Given the description of an element on the screen output the (x, y) to click on. 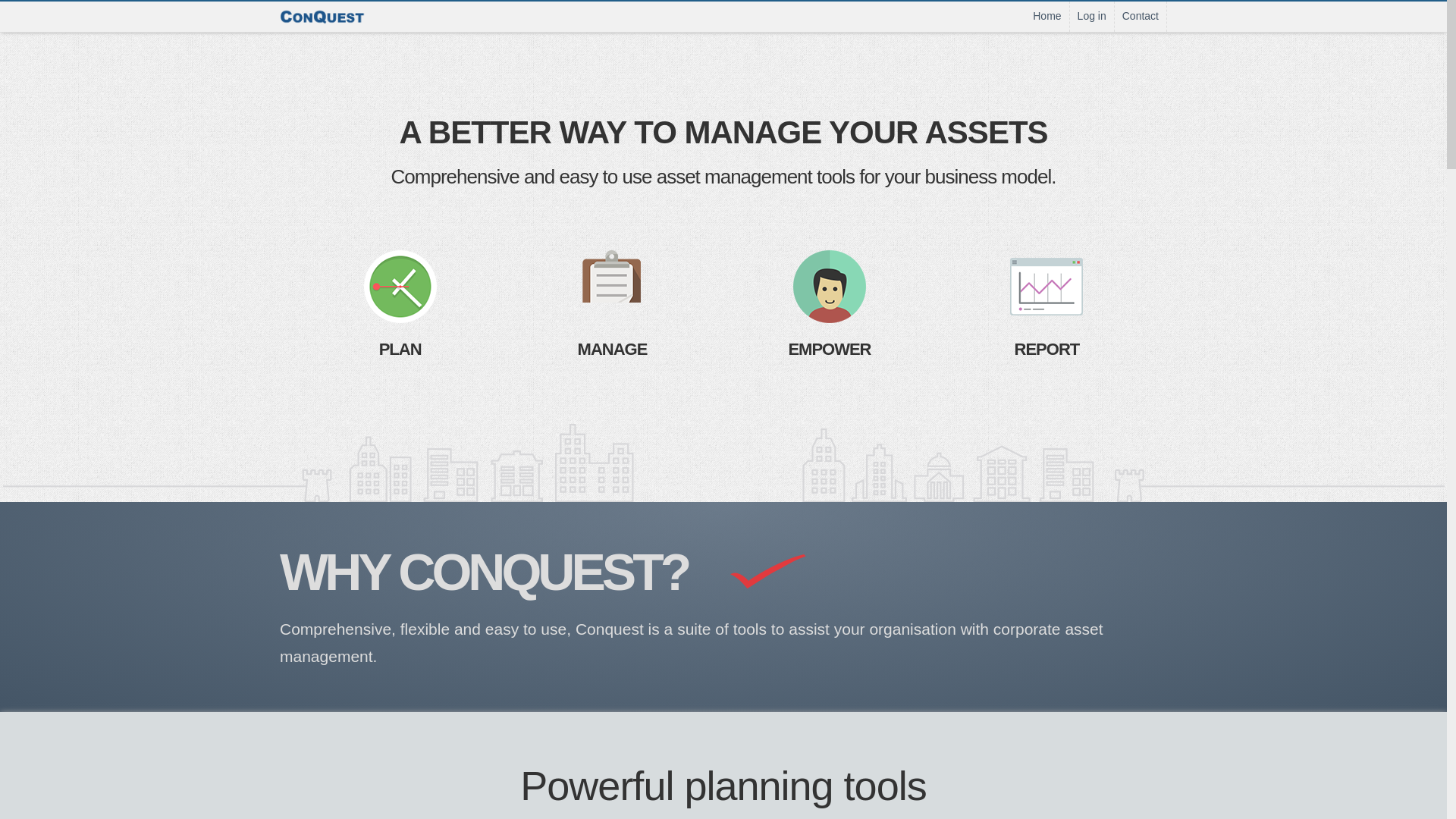
Home (1046, 16)
Log in (1091, 16)
Contact (1140, 16)
